Given the description of an element on the screen output the (x, y) to click on. 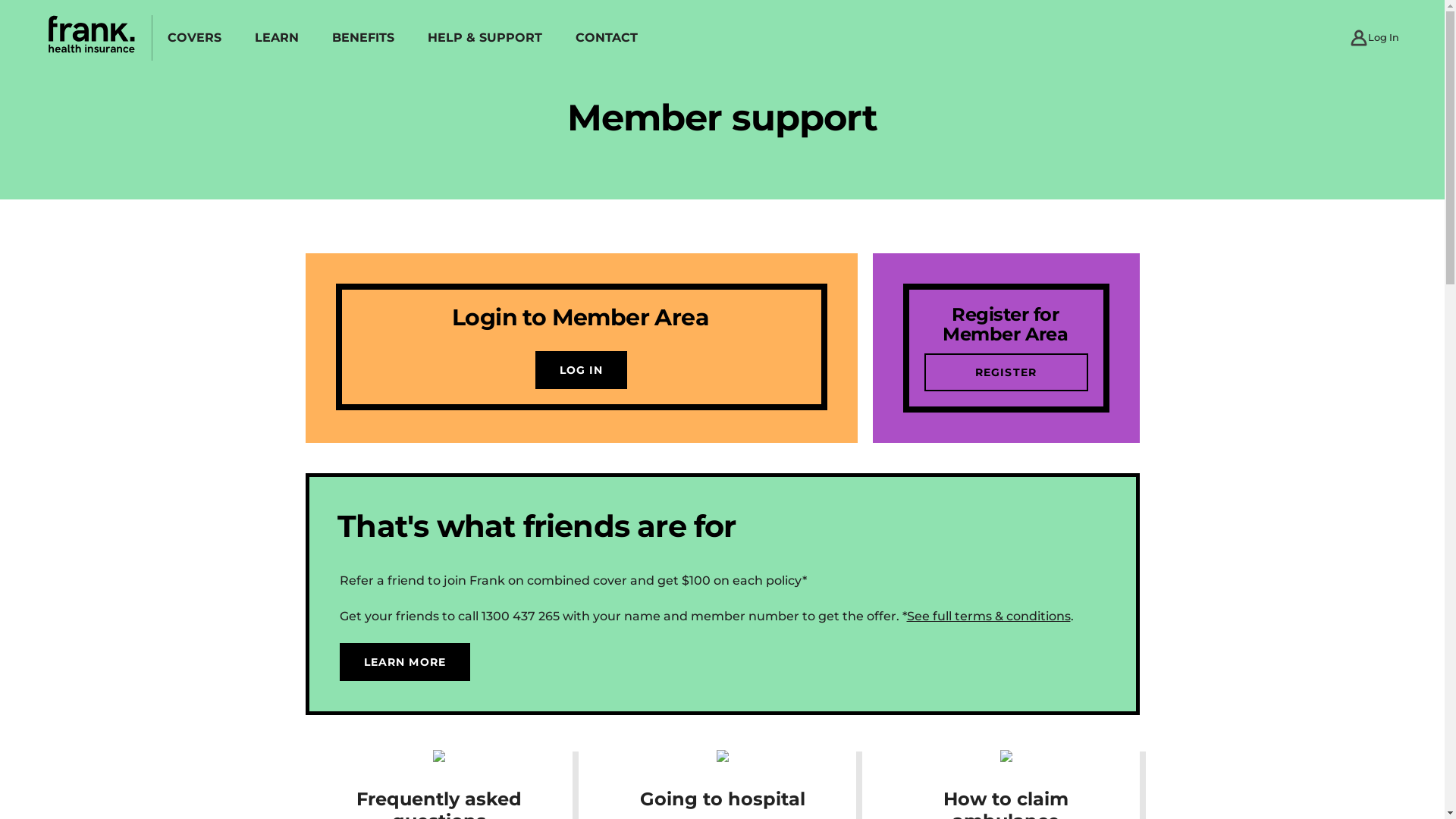
Log In Element type: text (1374, 37)
LOG IN Element type: text (581, 370)
COVERS Element type: text (194, 37)
SEARCH Element type: text (1421, 37)
LEARN MORE Element type: text (404, 661)
REGISTER Element type: text (1005, 372)
BENEFITS Element type: text (363, 37)
LEARN Element type: text (276, 37)
See full terms & conditions Element type: text (988, 615)
HELP & SUPPORT Element type: text (484, 37)
CONTACT Element type: text (606, 37)
